Given the description of an element on the screen output the (x, y) to click on. 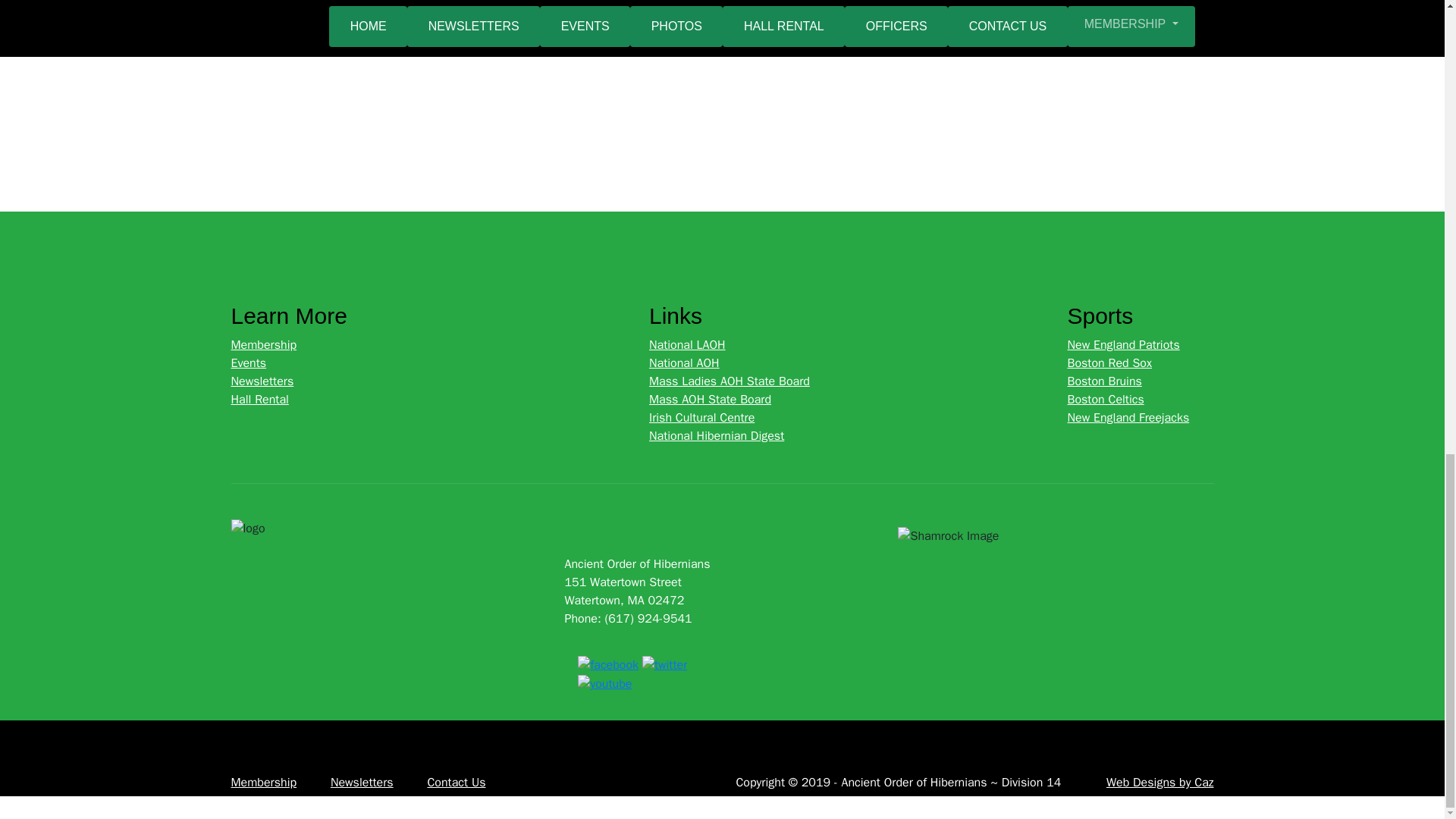
Mass Ladies AOH State Board (729, 381)
Membership (263, 344)
Newsletters (262, 381)
Irish Cultural Centre (701, 417)
New England Patriots (1123, 344)
National Hibernian Digest (716, 435)
Mass AOH State Board (710, 399)
Newsletters (361, 782)
Boston Bruins (1104, 381)
Events (248, 363)
